Given the description of an element on the screen output the (x, y) to click on. 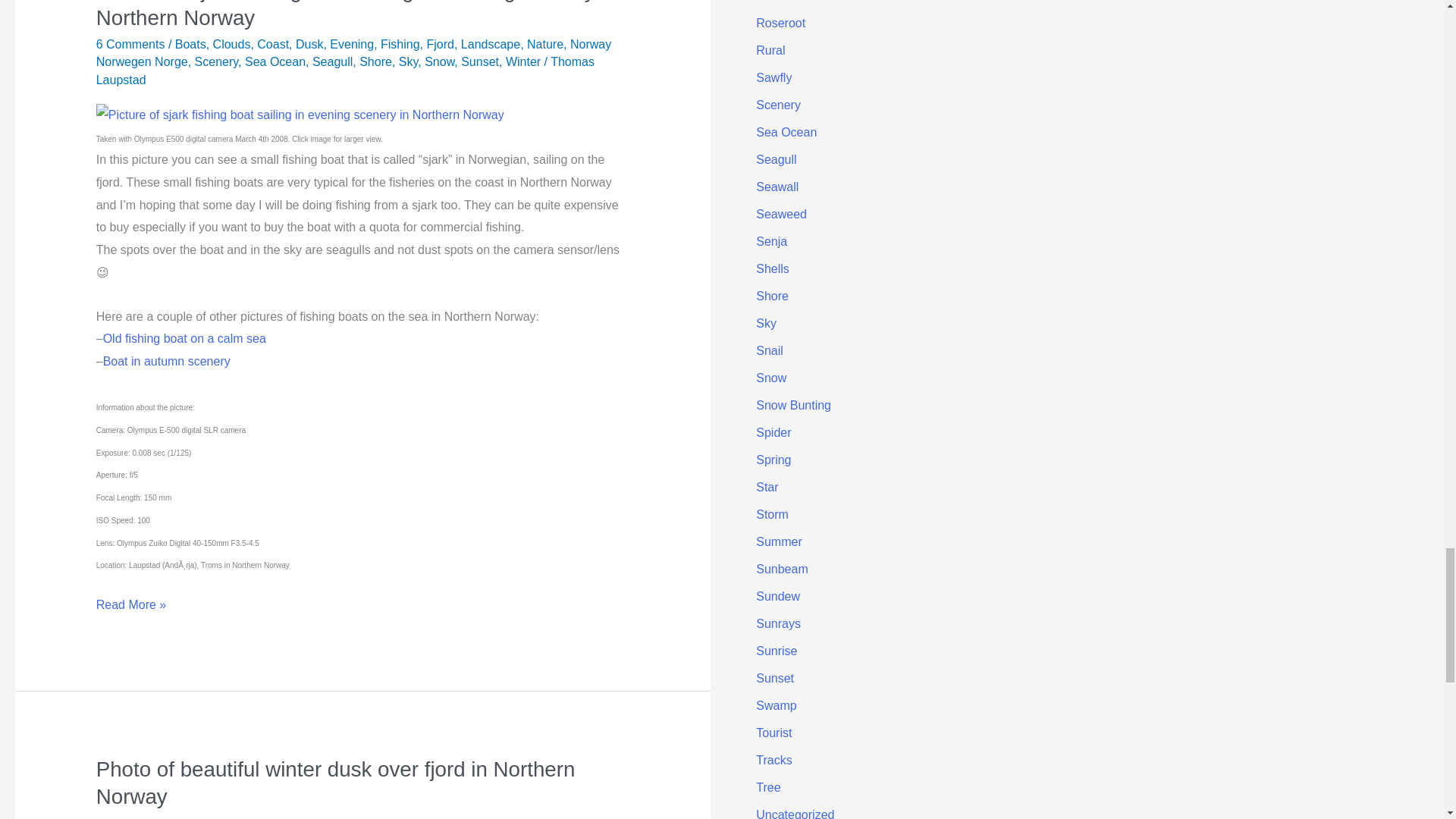
View all posts by Thomas Laupstad (345, 70)
